Given the description of an element on the screen output the (x, y) to click on. 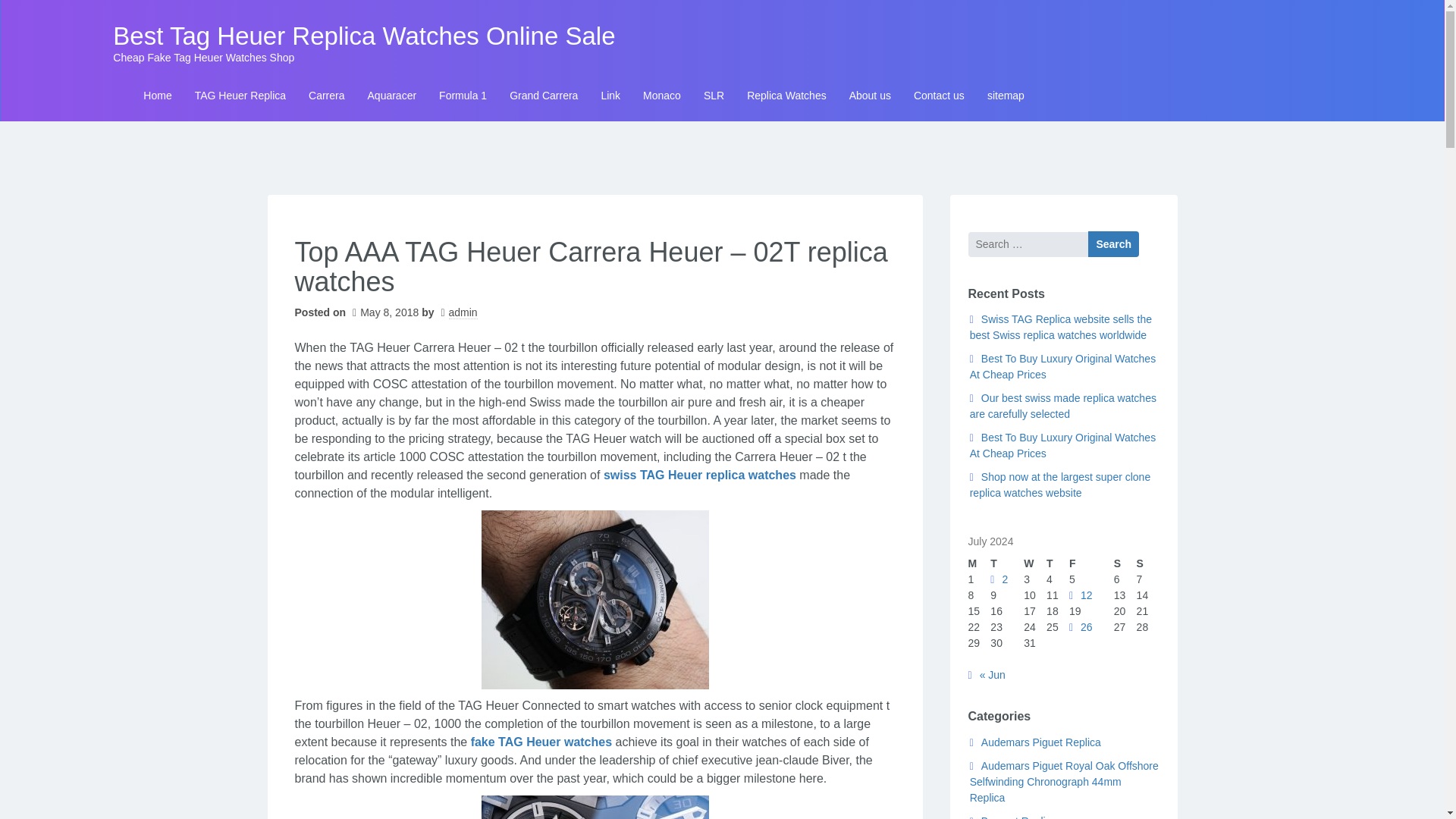
Friday (1090, 563)
Replica Watches (786, 95)
26 (1080, 626)
Sunday (1147, 563)
Our best swiss made replica watches are carefully selected (1062, 406)
Contact us (938, 95)
Saturday (1125, 563)
May 8, 2018 (384, 312)
12 (1080, 594)
Search (1112, 243)
Home (157, 95)
Search (1112, 243)
Best Tag Heuer Replica Watches Online Sale (363, 35)
swiss TAG Heuer replica watches (700, 474)
TAG Heuer Replica (240, 95)
